Given the description of an element on the screen output the (x, y) to click on. 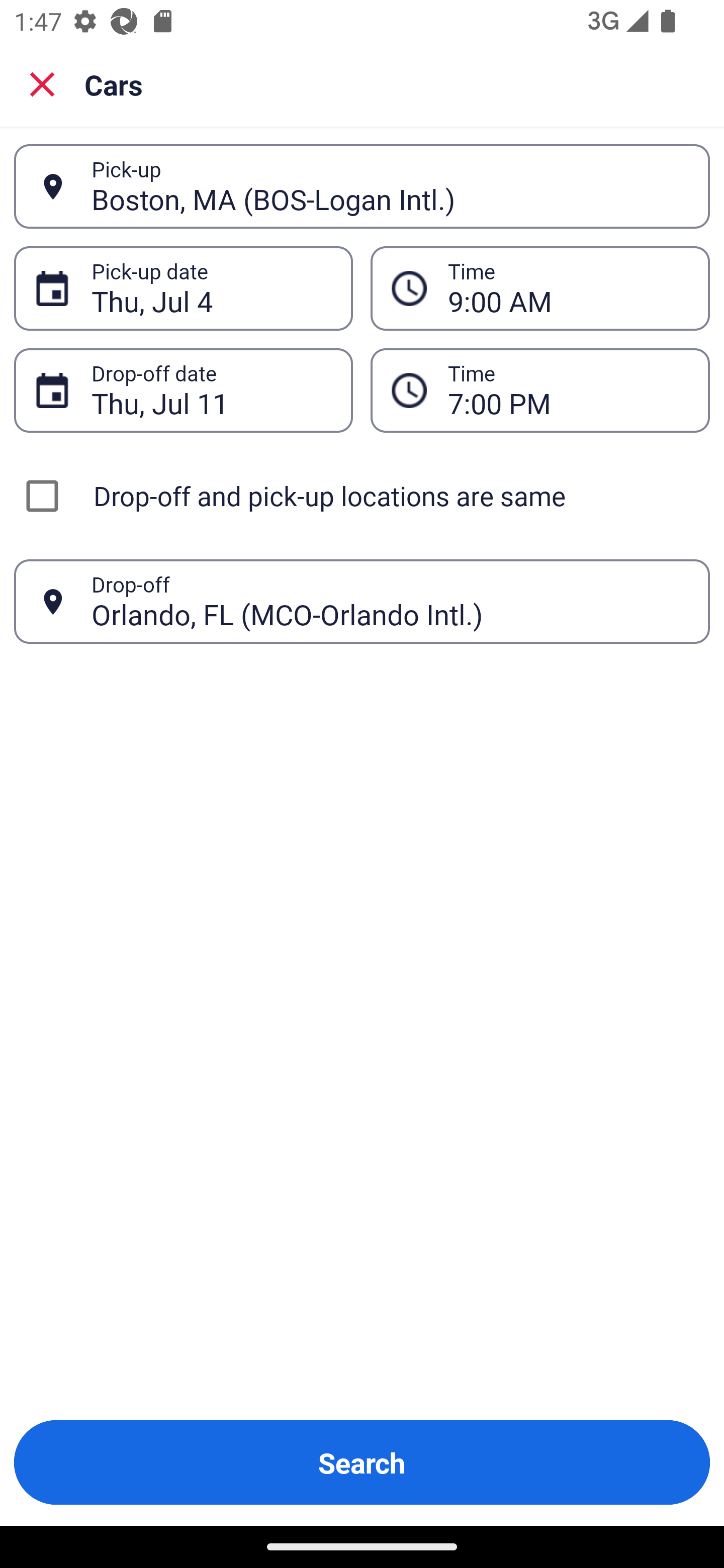
Close search screen (42, 84)
Boston, MA (BOS-Logan Intl.) (389, 186)
Thu, Jul 4 (211, 288)
9:00 AM (568, 288)
Thu, Jul 11 (211, 390)
7:00 PM (568, 390)
Drop-off and pick-up locations are same (361, 495)
Orlando, FL (MCO-Orlando Intl.) (389, 601)
Search Button Search (361, 1462)
